Given the description of an element on the screen output the (x, y) to click on. 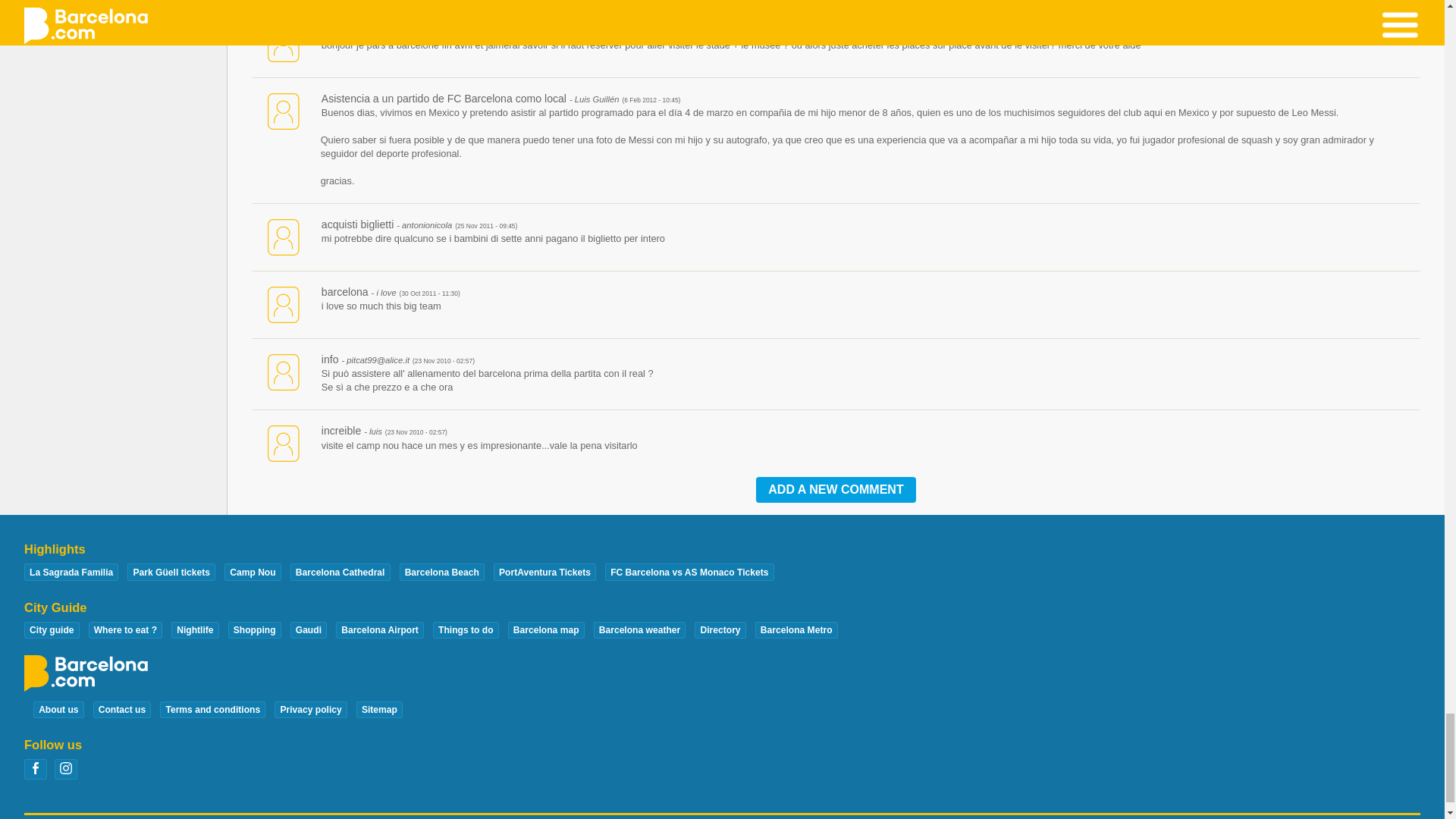
Add a new comment (835, 489)
Add a new comment (835, 489)
